Given the description of an element on the screen output the (x, y) to click on. 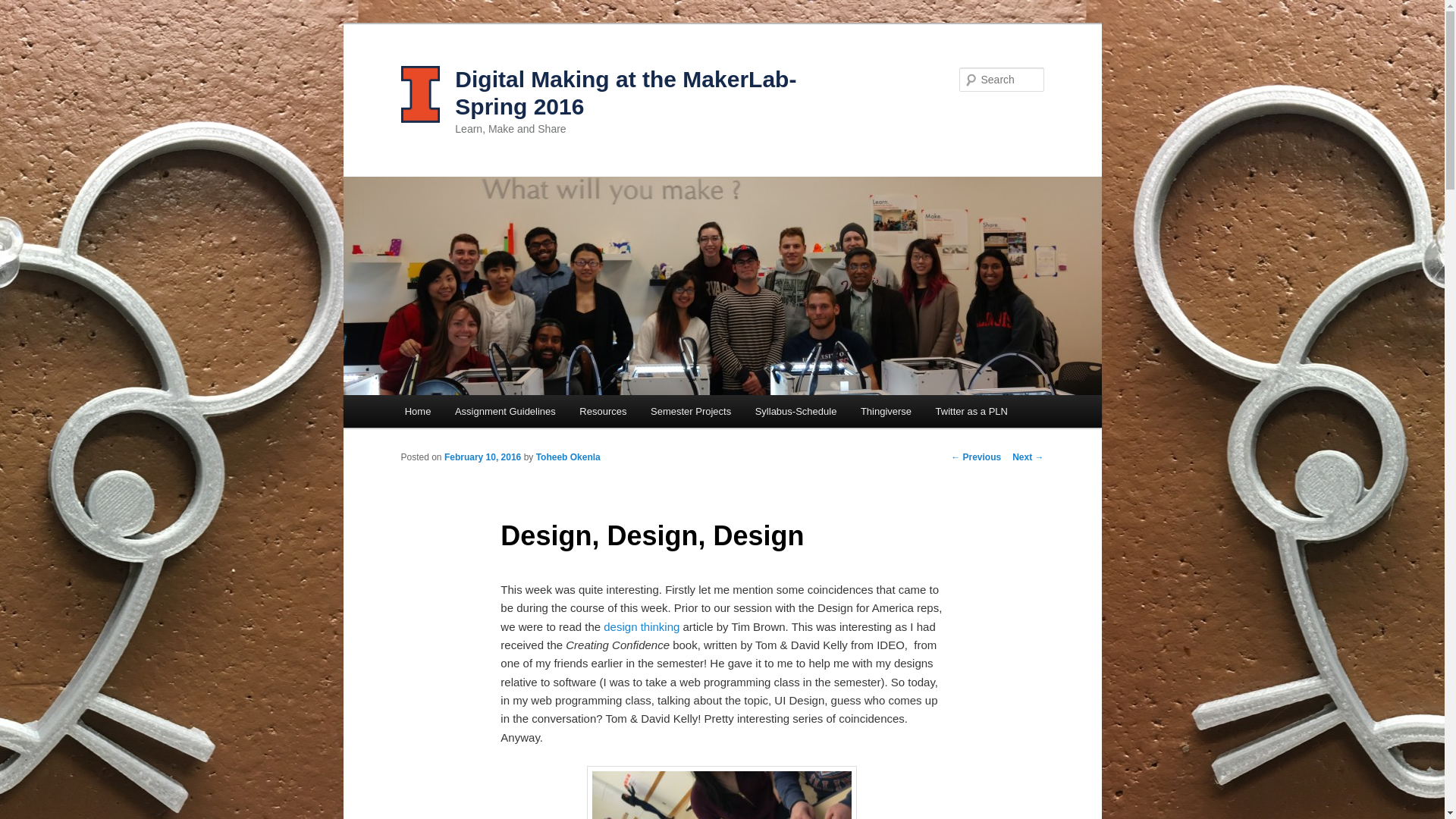
4:37 pm (482, 457)
Assignment Guidelines (504, 410)
Digital Making at the MakerLab- Spring 2016 (625, 92)
Home (417, 410)
Twitter as a PLN (971, 410)
Thingiverse (885, 410)
design thinking (641, 626)
Toheeb Okenla (567, 457)
Semester Projects (690, 410)
Search (24, 8)
Syllabus-Schedule (795, 410)
February 10, 2016 (482, 457)
Resources (603, 410)
View all posts by Toheeb Okenla (567, 457)
